Given the description of an element on the screen output the (x, y) to click on. 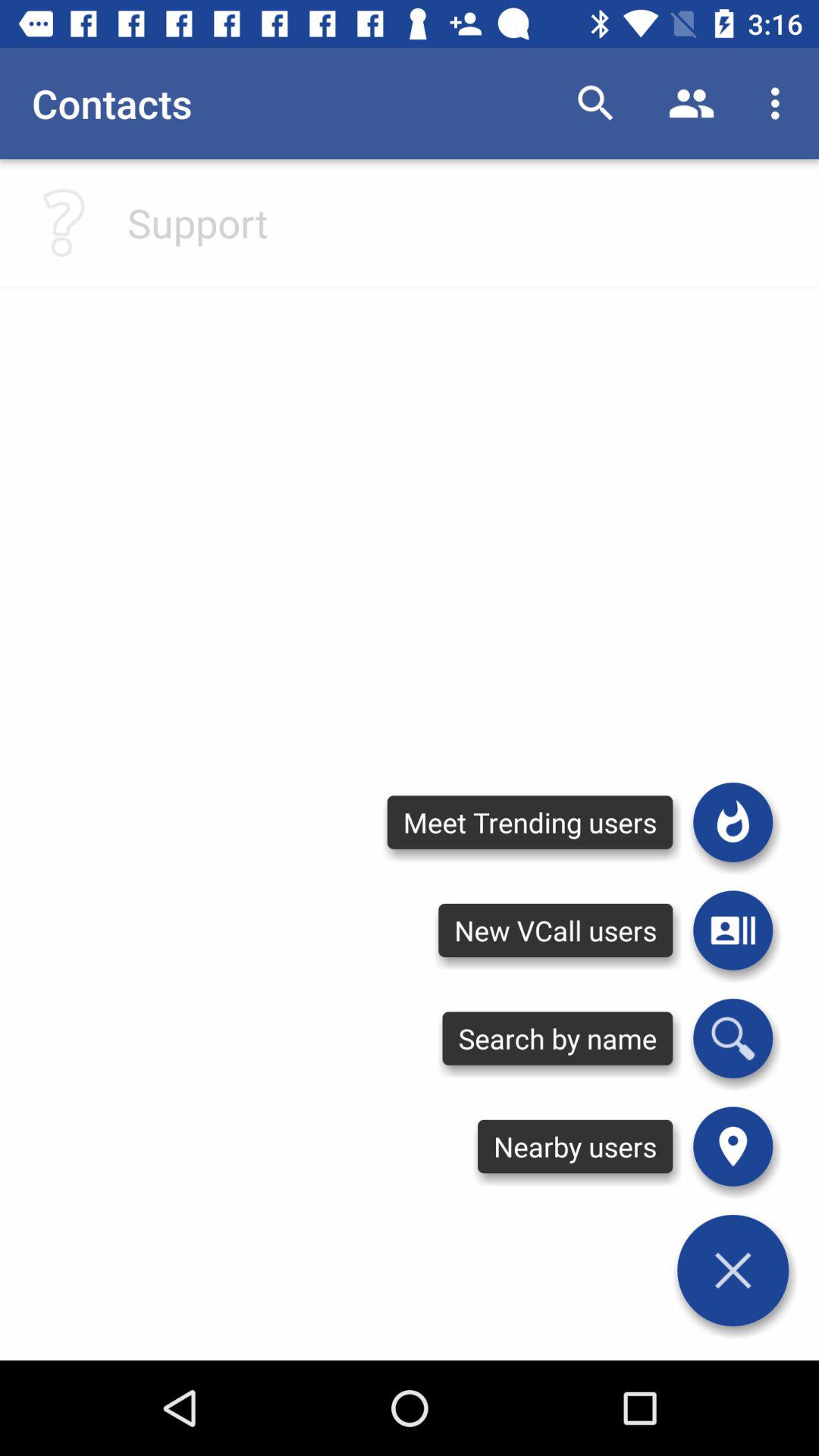
search (733, 1038)
